Given the description of an element on the screen output the (x, y) to click on. 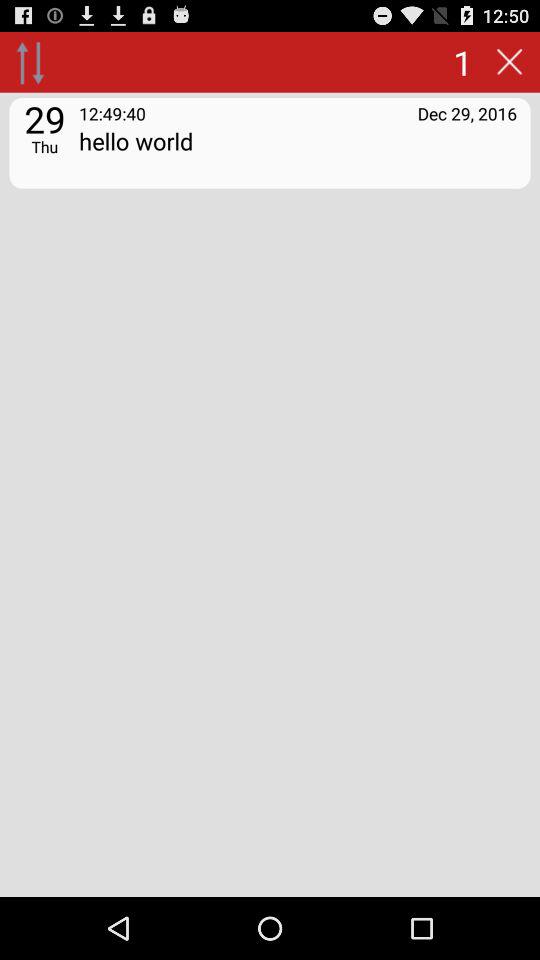
flip to the thu app (44, 146)
